Given the description of an element on the screen output the (x, y) to click on. 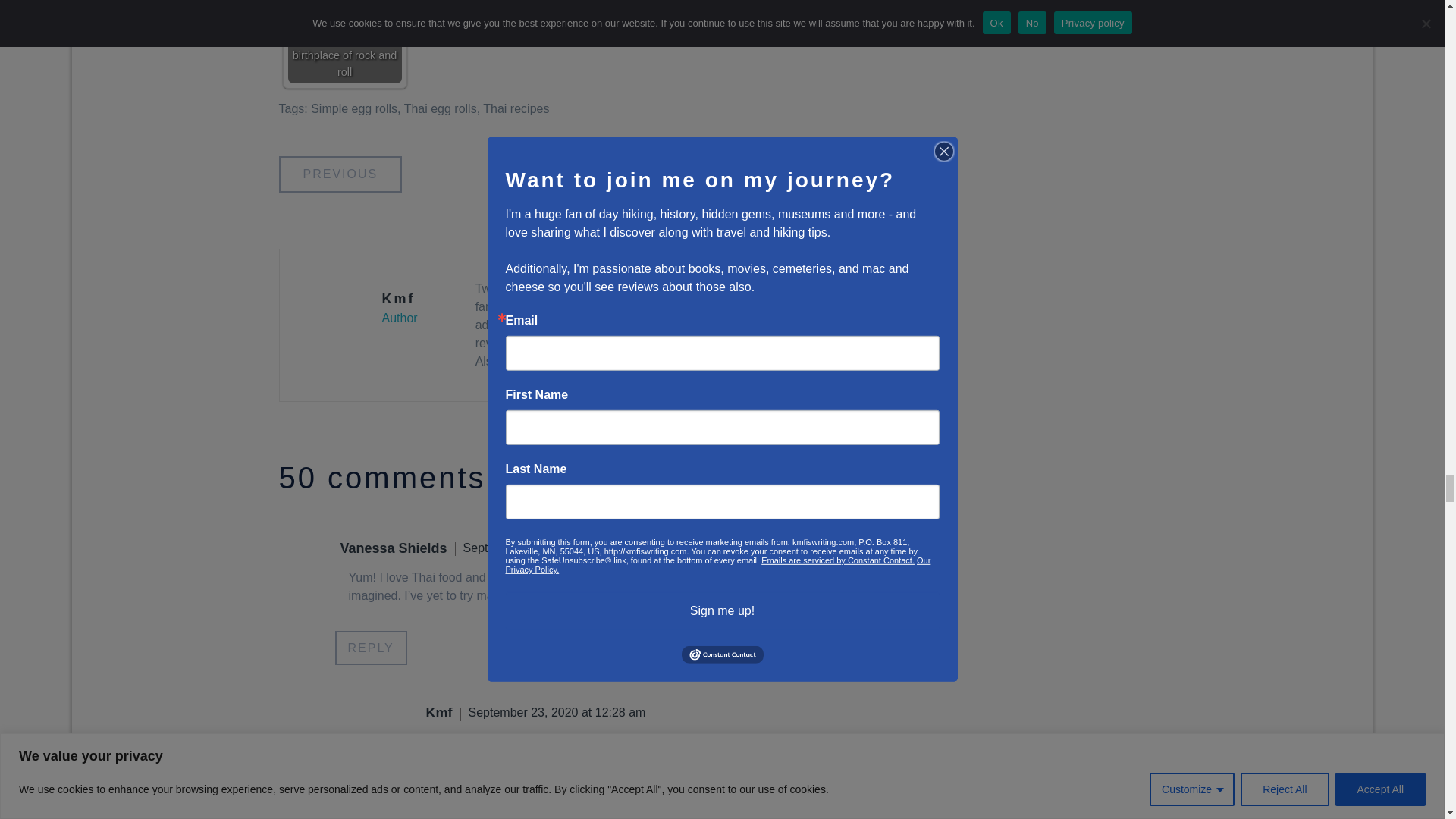
Posts by kmf (397, 298)
